Given the description of an element on the screen output the (x, y) to click on. 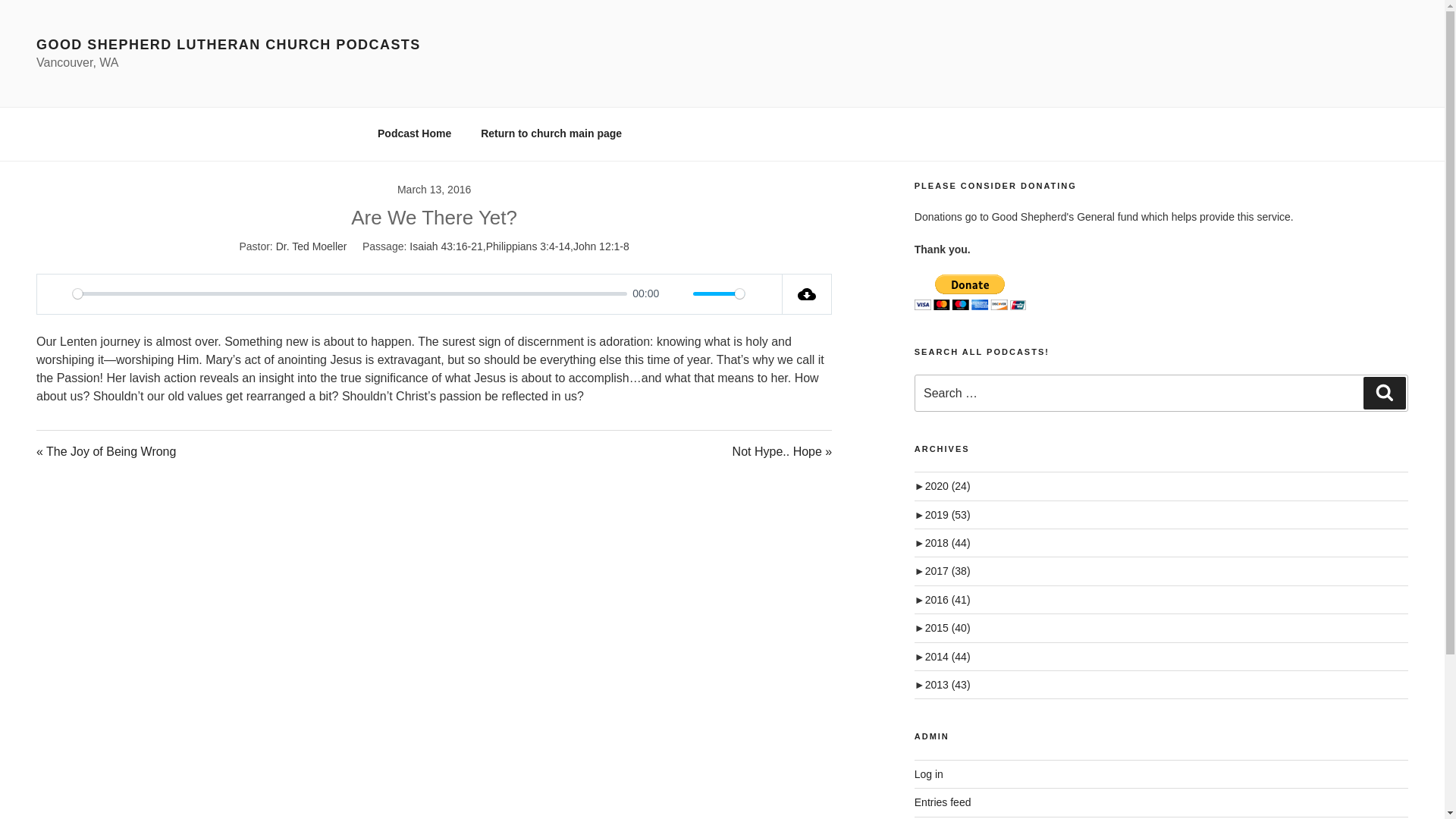
Dr. Ted Moeller (311, 246)
Play (56, 293)
Mute (676, 293)
Isaiah 43:16-21 (446, 246)
Download Audio File (807, 293)
PayPal - The safer, easier way to pay online! (970, 292)
1 (718, 293)
John 12:1-8 (600, 246)
click to expand (942, 485)
Search (1384, 392)
click to expand (942, 514)
GOOD SHEPHERD LUTHERAN CHURCH PODCASTS (228, 44)
Settings (761, 293)
Philippians 3:4-14 (528, 246)
Return to church main page (550, 133)
